Given the description of an element on the screen output the (x, y) to click on. 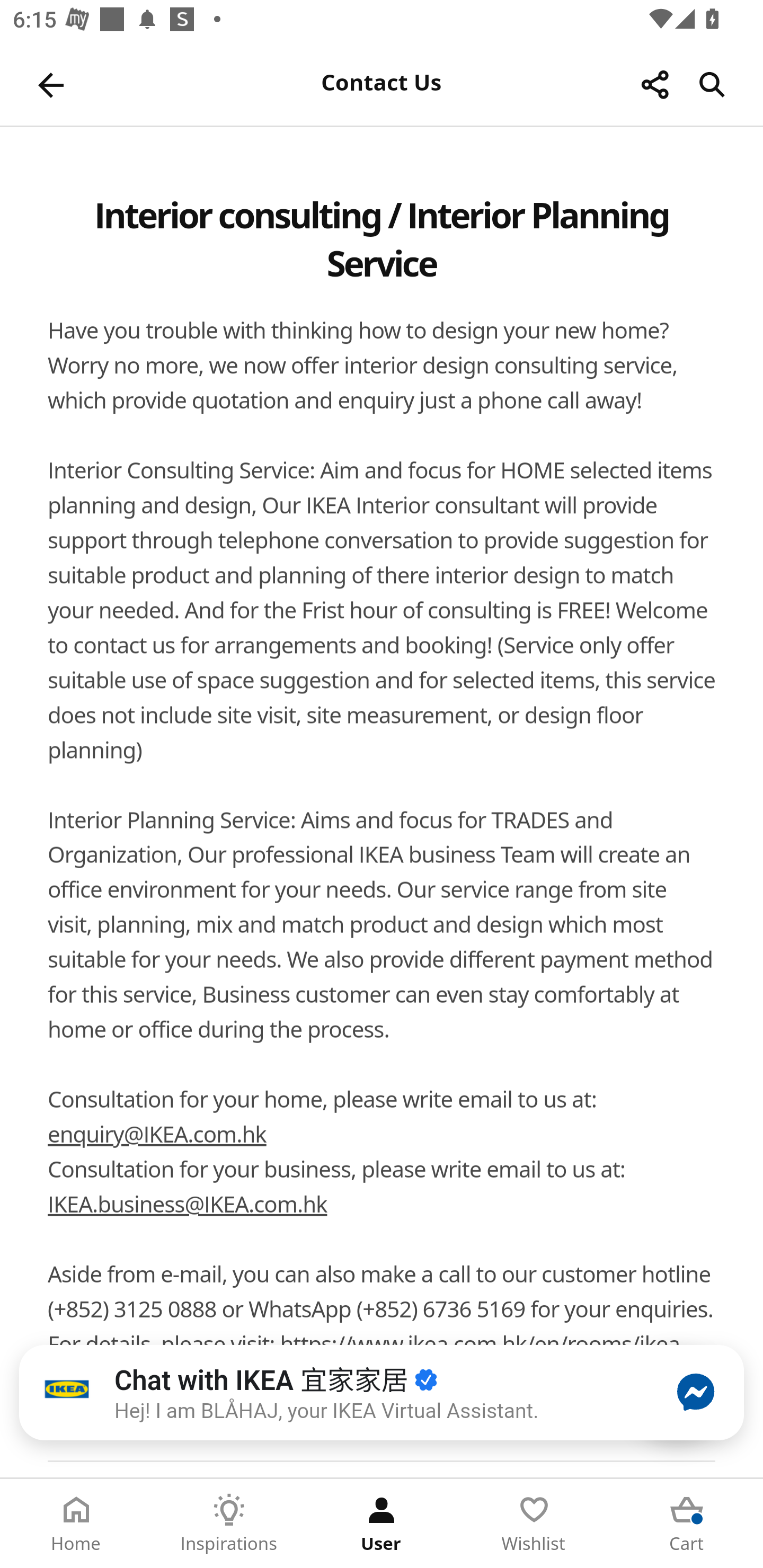
enquiry@IKEA.com.hk (157, 1136)
IKEA.business@IKEA.com.hk (187, 1205)
https://www.ikea.com.hk/en/rooms/ikea-for-business (366, 1362)
Home
Tab 1 of 5 (76, 1522)
Inspirations
Tab 2 of 5 (228, 1522)
User
Tab 3 of 5 (381, 1522)
Wishlist
Tab 4 of 5 (533, 1522)
Cart
Tab 5 of 5 (686, 1522)
